Given the description of an element on the screen output the (x, y) to click on. 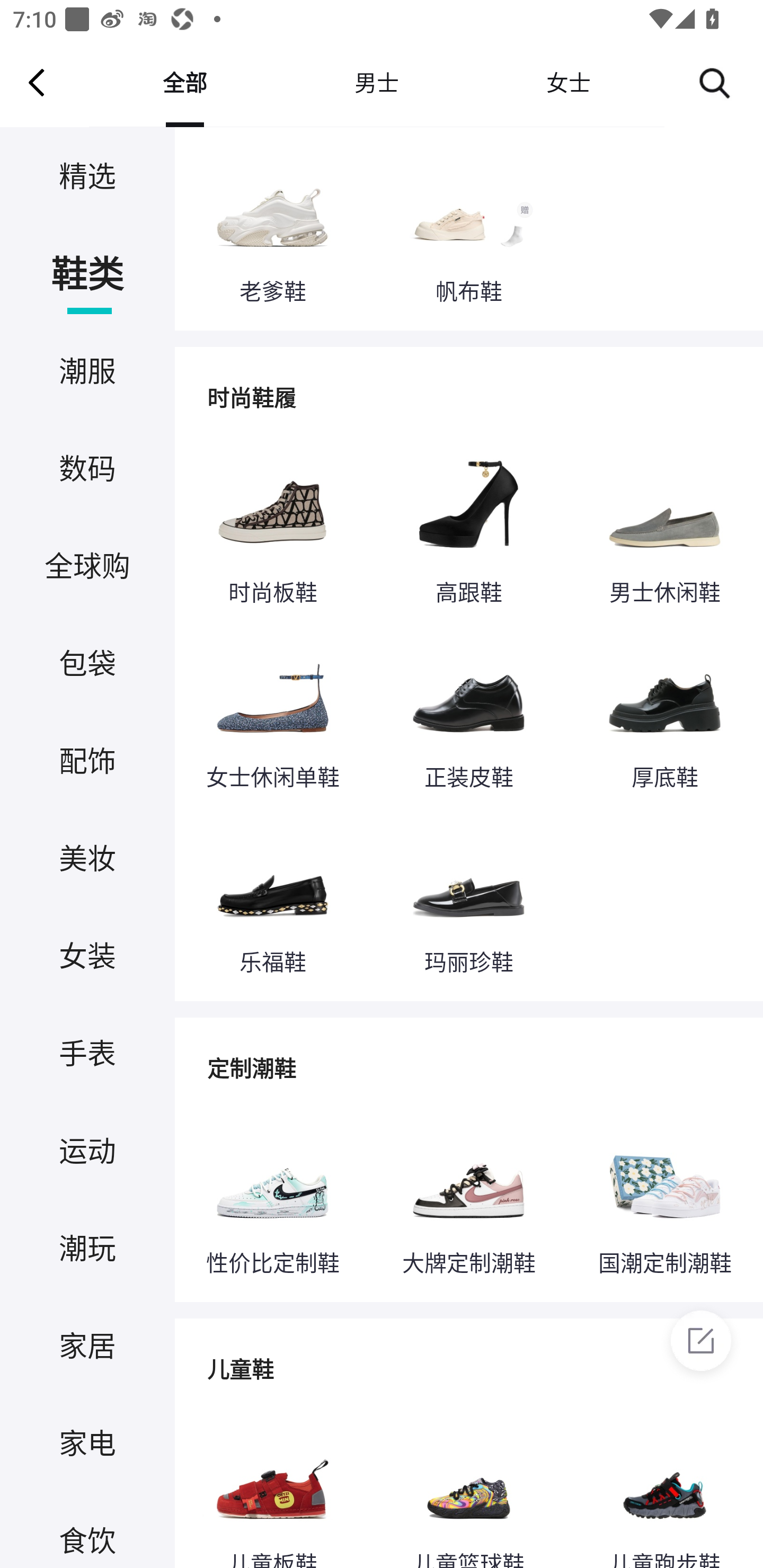
Navigate up (36, 82)
全部 (184, 82)
男士 (376, 82)
女士 (568, 82)
老爹鞋 (272, 226)
帆布鞋 (468, 226)
时尚板鞋 (272, 527)
高跟鞋 (468, 527)
男士休闲鞋 (664, 527)
女士休闲单鞋 (272, 712)
正装皮鞋 (468, 712)
厚底鞋 (664, 712)
乐福鞋 (272, 897)
玛丽珍鞋 (468, 897)
性价比定制鞋 (272, 1199)
大牌定制潮鞋 (468, 1199)
国潮定制潮鞋 (664, 1199)
儿童板鞋 (272, 1488)
儿童篮球鞋 (468, 1488)
儿童跑步鞋 (664, 1488)
